Given the description of an element on the screen output the (x, y) to click on. 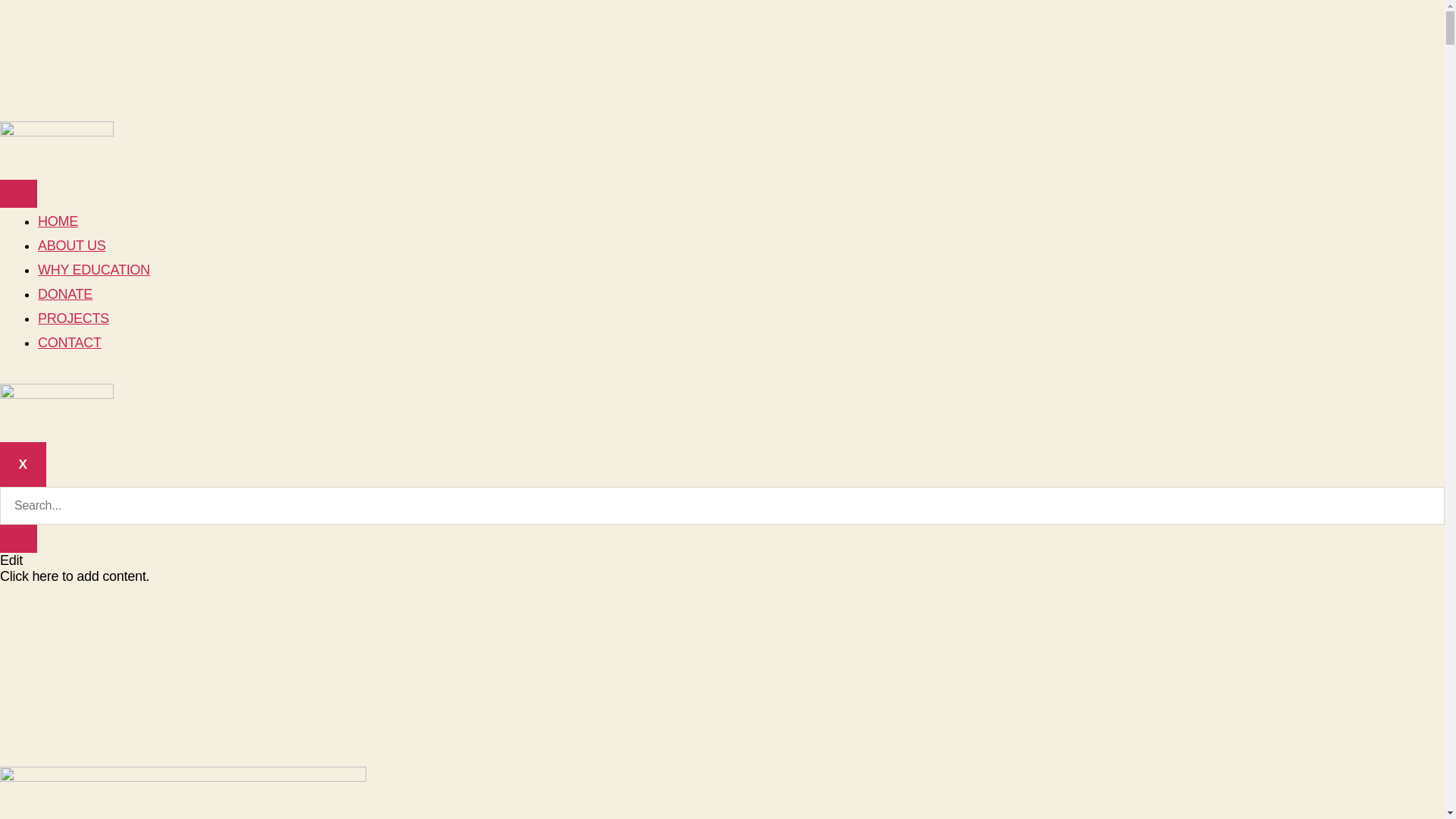
DONATE Element type: text (64, 293)
WHY EDUCATION Element type: text (93, 269)
PROJECTS Element type: text (73, 318)
X Element type: text (23, 464)
HOME Element type: text (57, 221)
ABOUT US Element type: text (71, 245)
CONTACT Element type: text (69, 342)
